Given the description of an element on the screen output the (x, y) to click on. 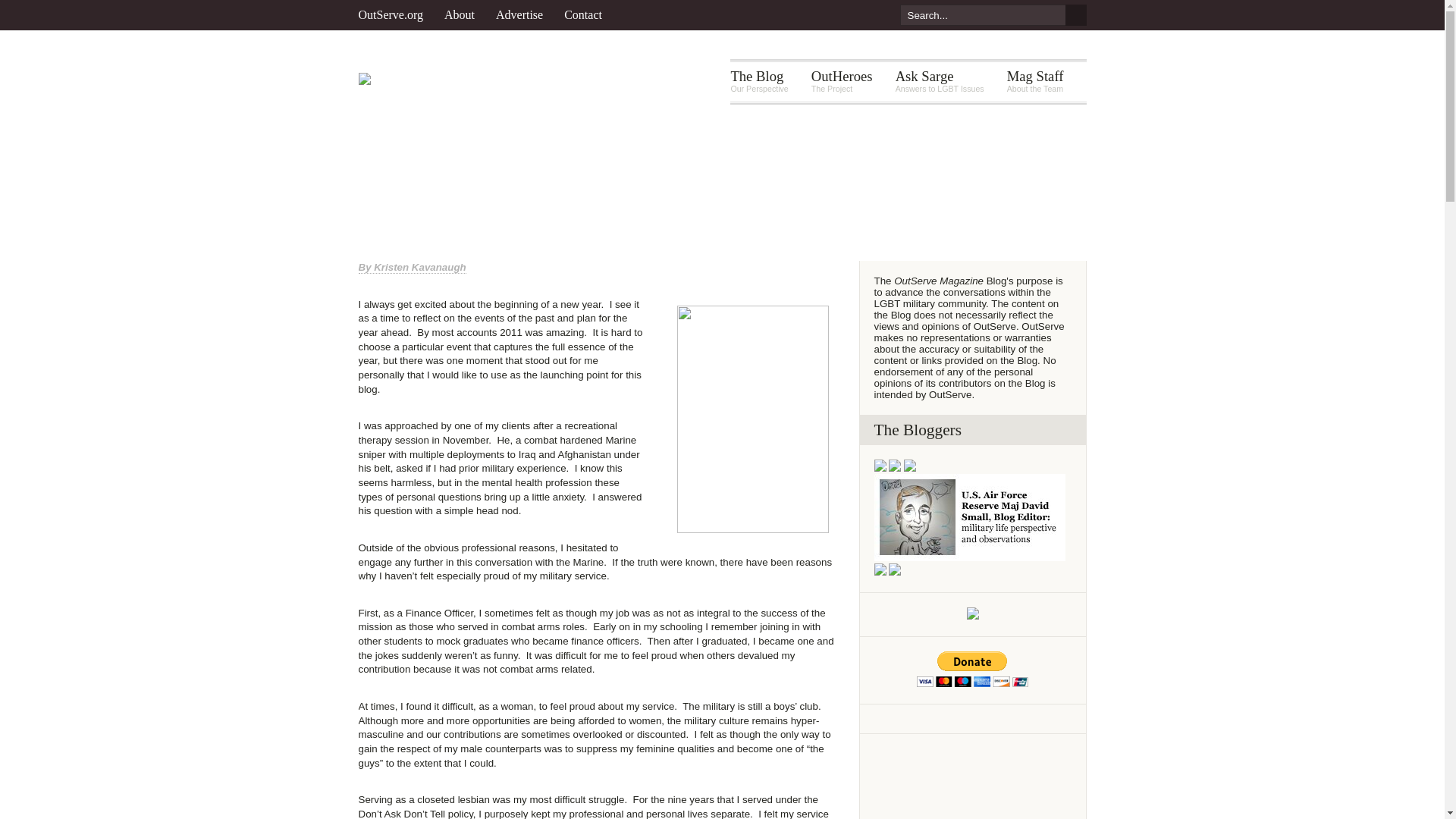
Facebook (816, 14)
Youtube (873, 14)
Search... (981, 14)
Facebook (816, 14)
Twitter (758, 81)
Contact (845, 14)
Advertise (588, 15)
Twitter (524, 15)
Search... (845, 14)
